Given the description of an element on the screen output the (x, y) to click on. 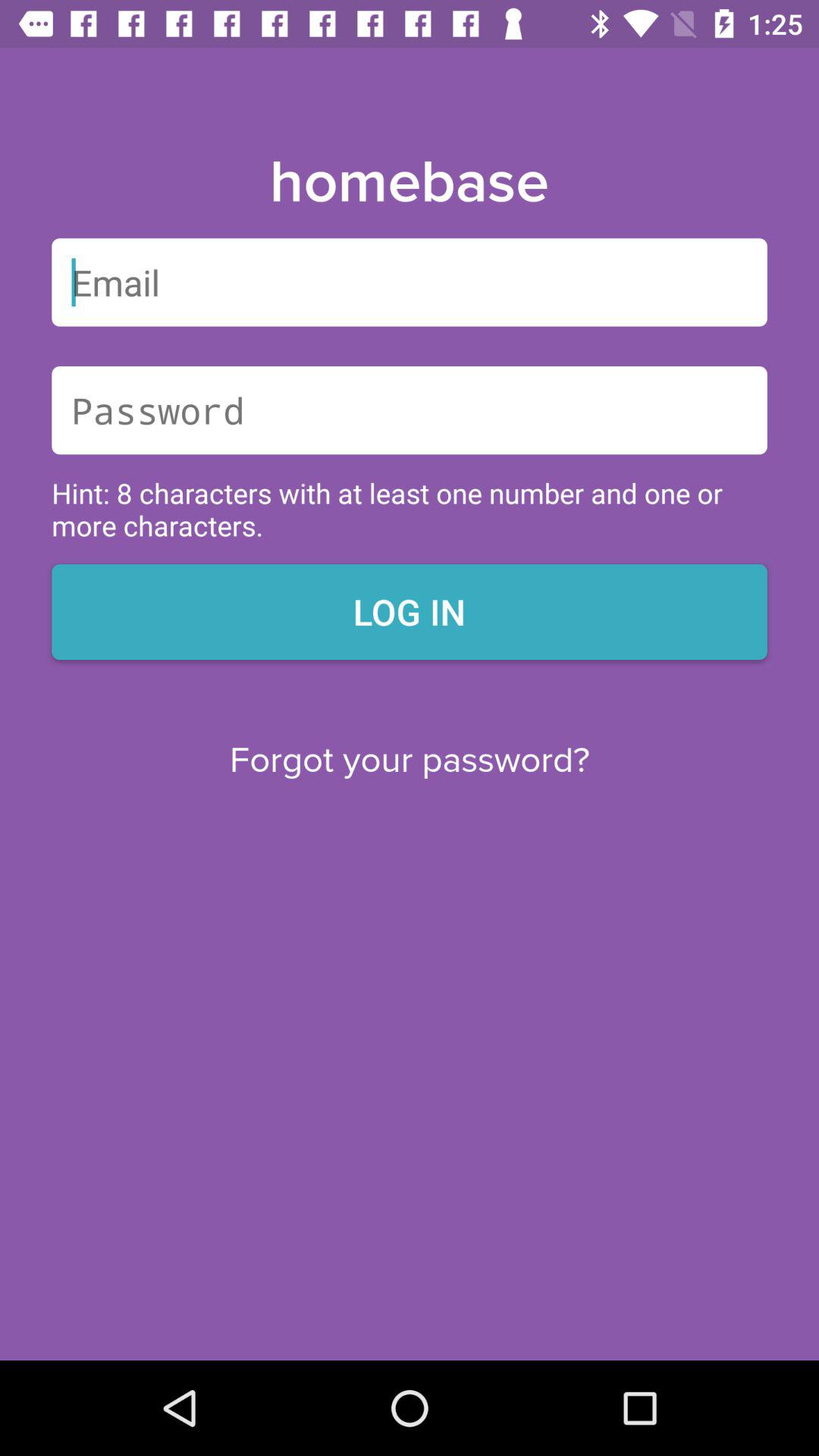
select the icon below hint 8 characters icon (409, 611)
